Given the description of an element on the screen output the (x, y) to click on. 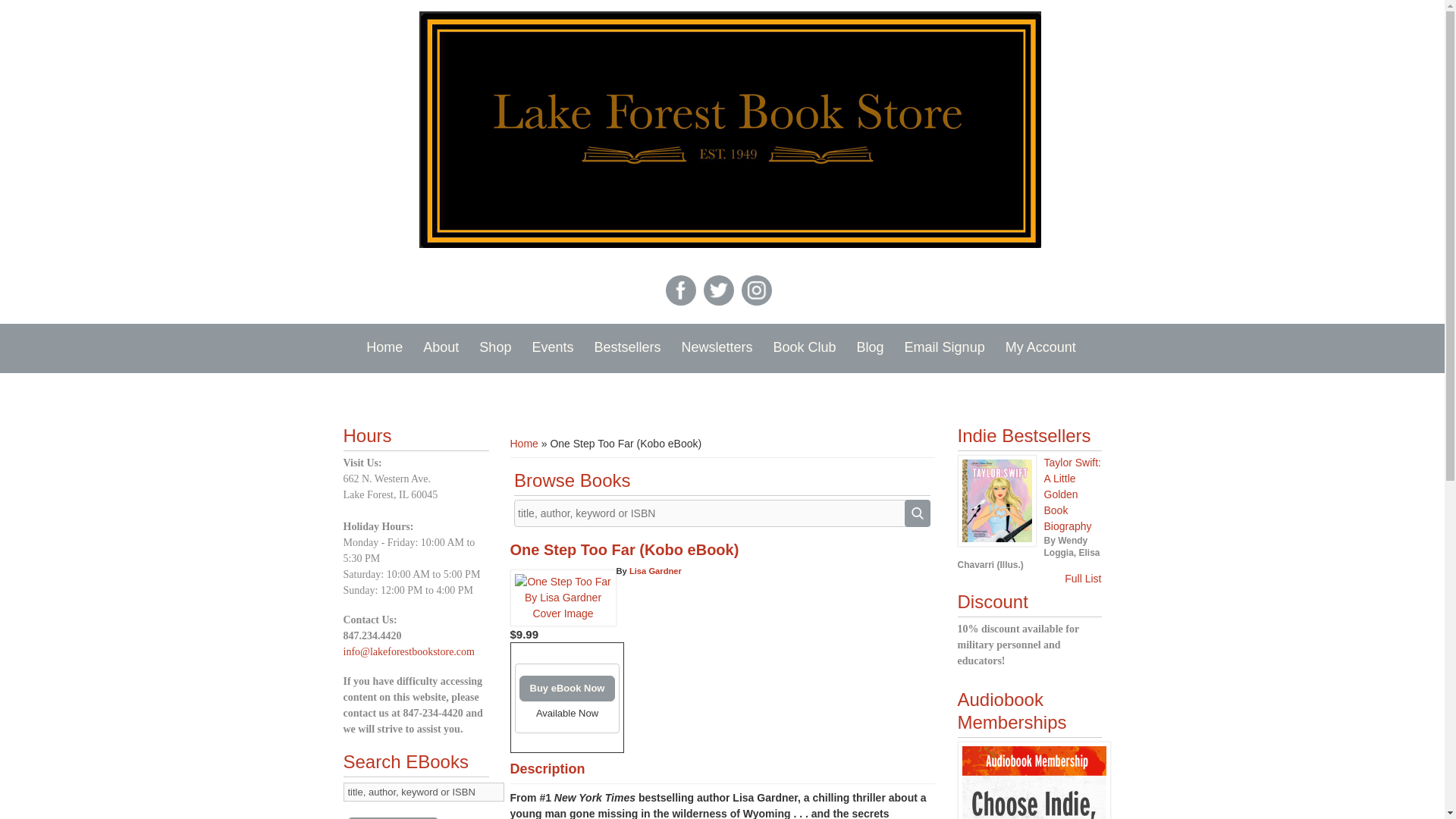
Email Signup (944, 347)
Blog (870, 347)
Buy eBook Now (566, 688)
Buy eBook Now (566, 688)
Home (523, 443)
Newsletters (716, 347)
Enter title, author, keyword or ISBN. (422, 791)
Book Club (804, 347)
Search (917, 513)
My Account (1039, 347)
